Given the description of an element on the screen output the (x, y) to click on. 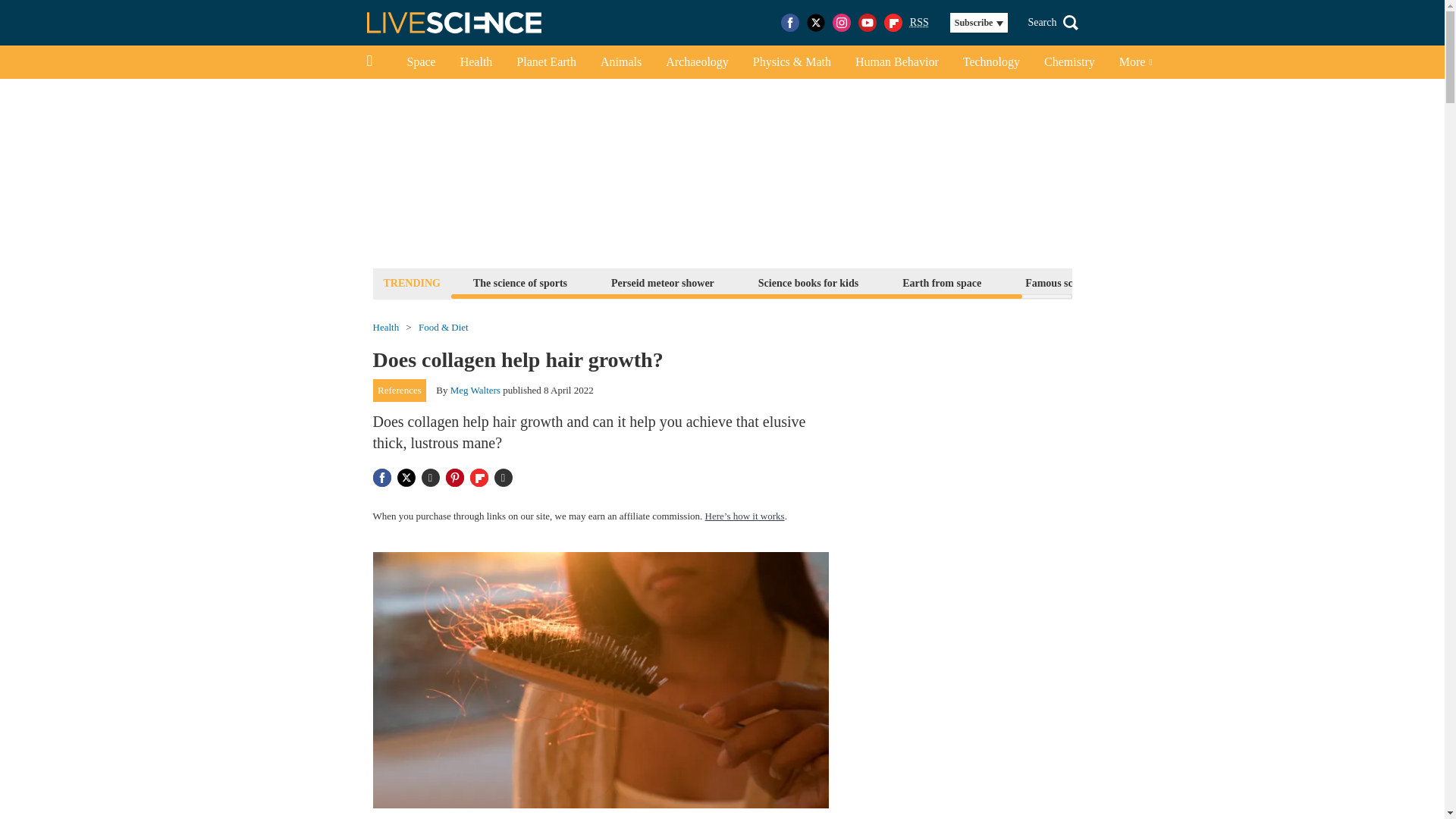
The science of sports (519, 282)
Animals (620, 61)
RSS (919, 22)
References (399, 390)
Earth from space (941, 282)
Science books for kids (807, 282)
Planet Earth (545, 61)
Meg Walters (474, 389)
Perseid meteor shower (662, 282)
Really Simple Syndication (919, 21)
